Given the description of an element on the screen output the (x, y) to click on. 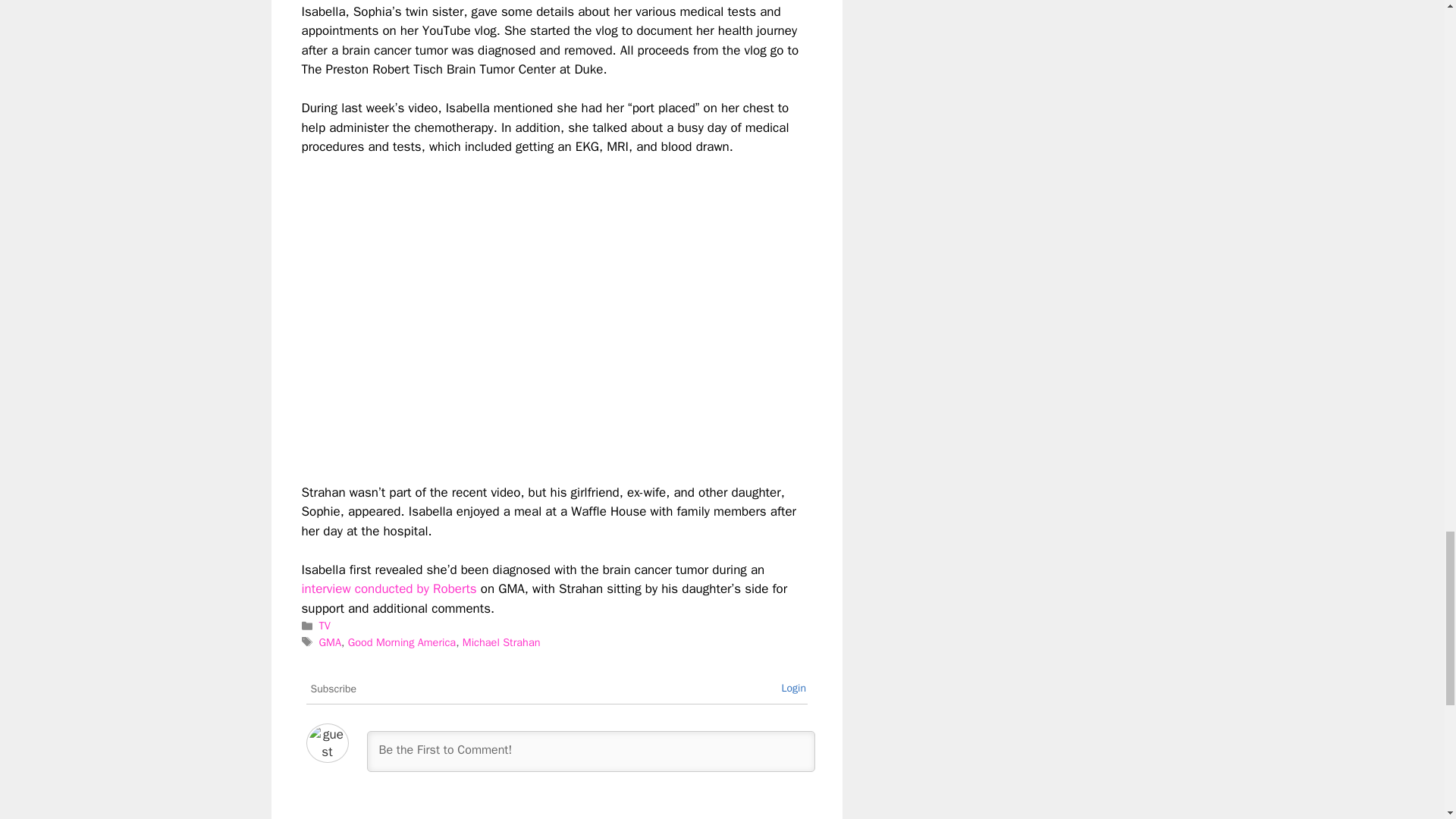
Michael Strahan (501, 642)
interview conducted by Roberts (389, 588)
Login (793, 687)
GMA (329, 642)
Good Morning America (401, 642)
